Given the description of an element on the screen output the (x, y) to click on. 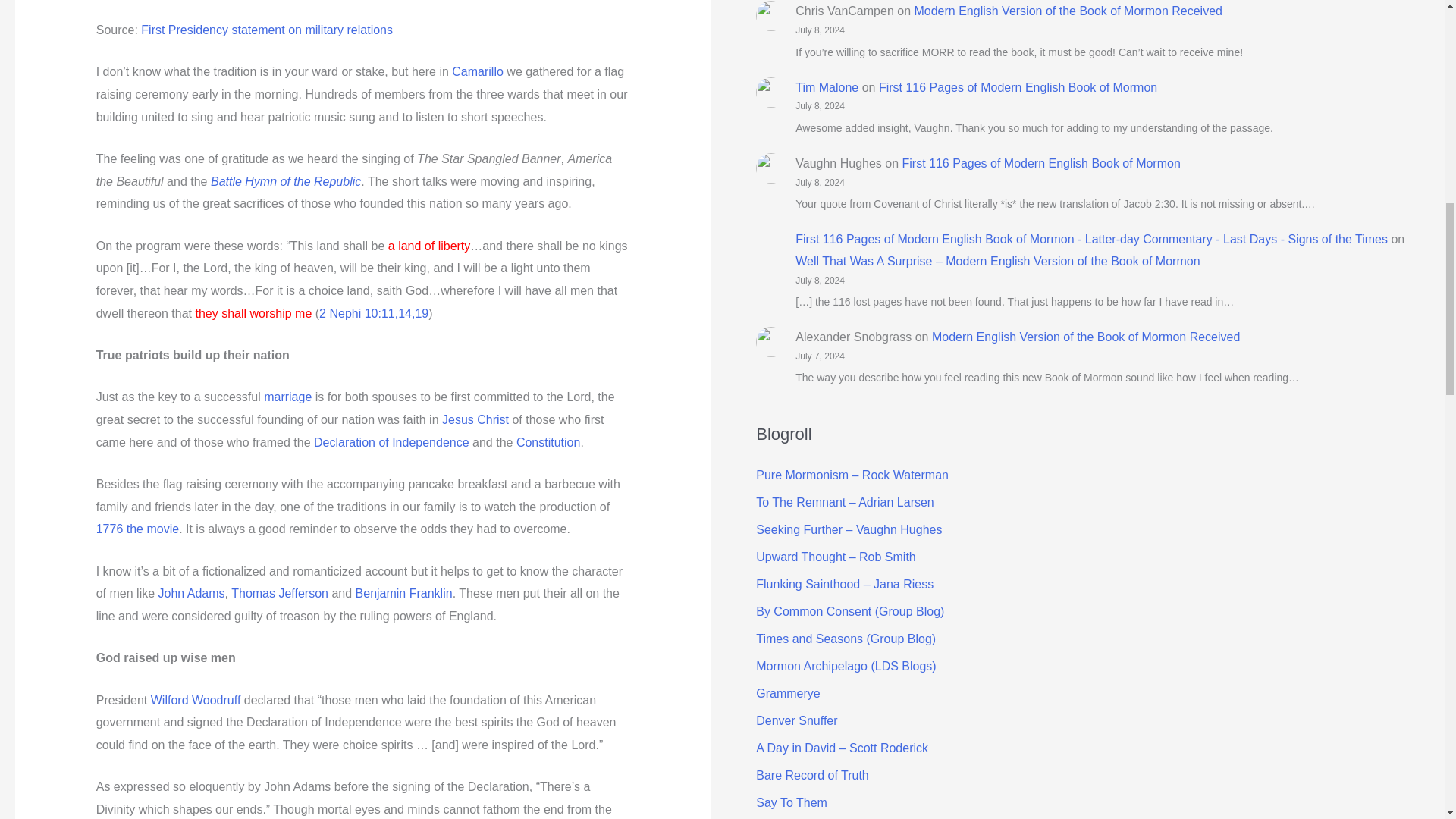
marriage (287, 396)
Declaration of Independence (391, 441)
1776 the movie (137, 528)
First Presidency statement on military relations (267, 29)
Thomas Jefferson (280, 593)
2 Nephi 10:11,14,19 (373, 313)
Camarillo (477, 71)
Benjamin Franklin (403, 593)
Jesus Christ (475, 419)
John Adams (191, 593)
